Given the description of an element on the screen output the (x, y) to click on. 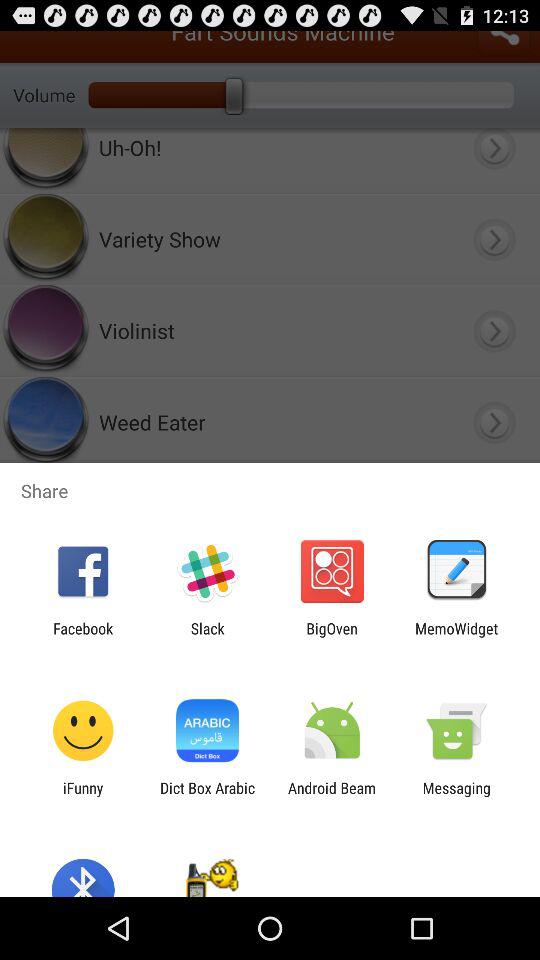
tap the facebook item (83, 637)
